Given the description of an element on the screen output the (x, y) to click on. 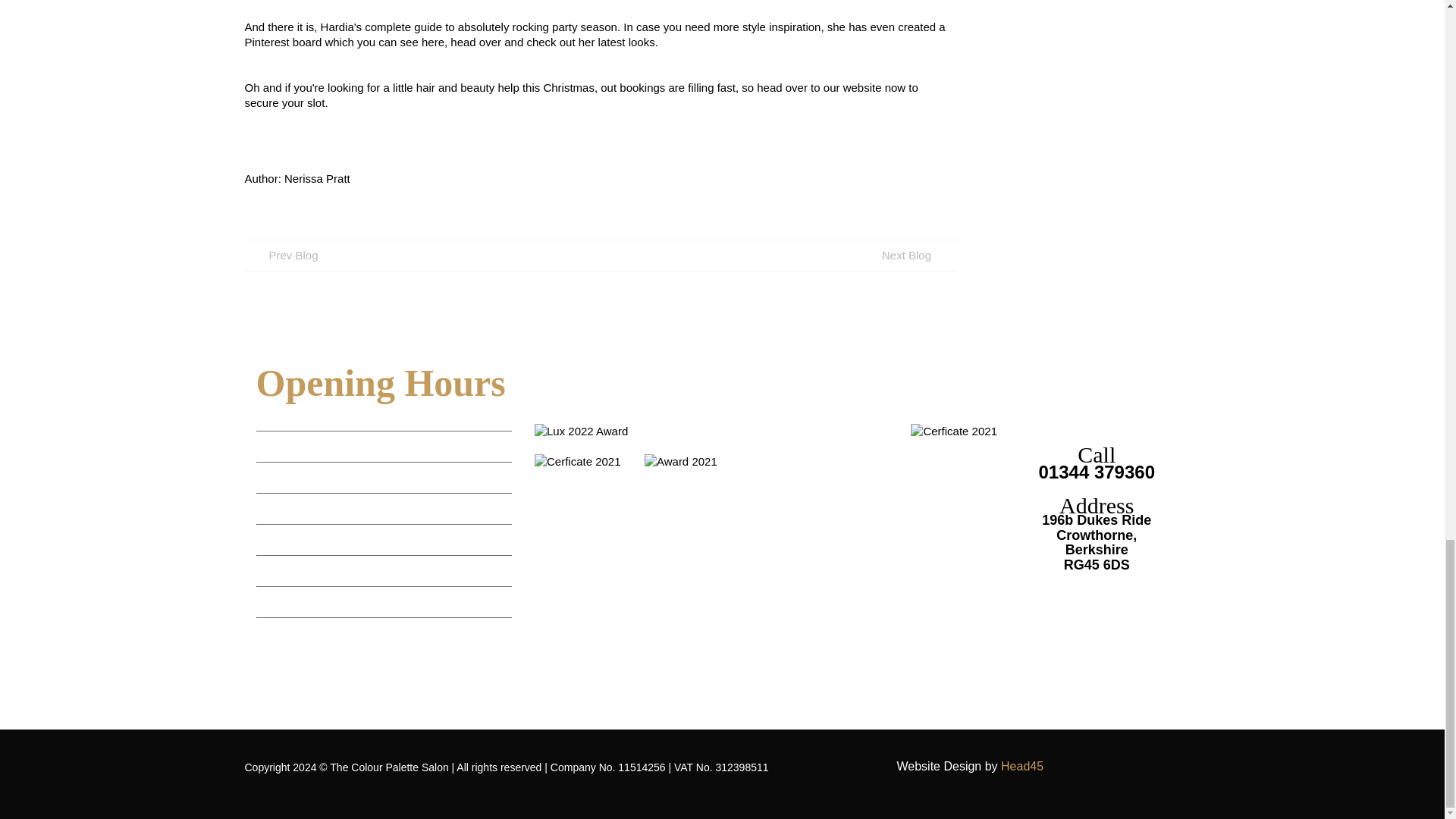
Instagram (265, 688)
Facebook (290, 688)
Next Blog (905, 255)
Prev Blog (284, 255)
Privacy Policy (272, 655)
Behind The Scenes: Alessio Matta x Collectible DRY Magazine (905, 255)
Cookie Policy (352, 655)
